Given the description of an element on the screen output the (x, y) to click on. 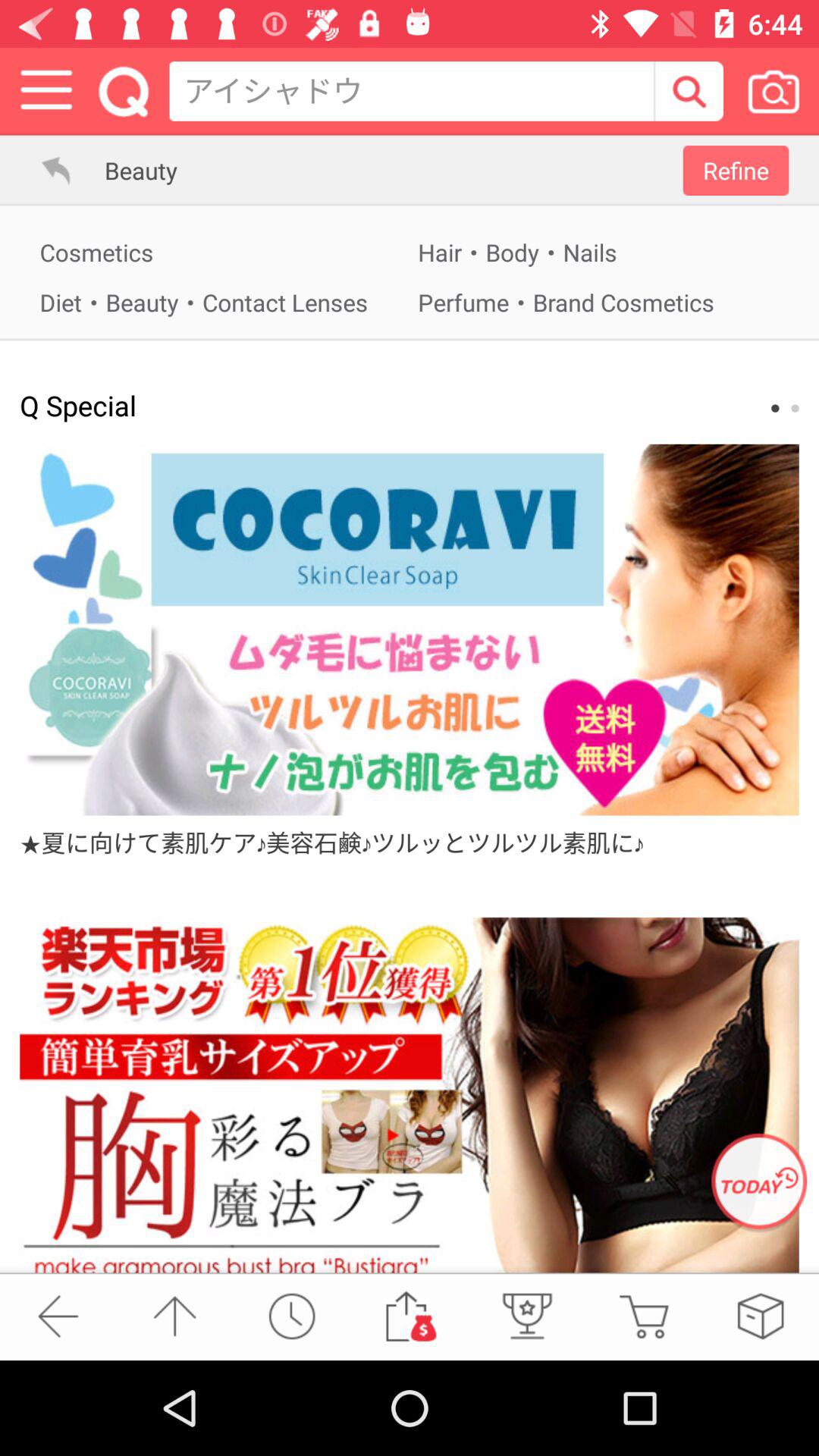
watch option (291, 1316)
